Given the description of an element on the screen output the (x, y) to click on. 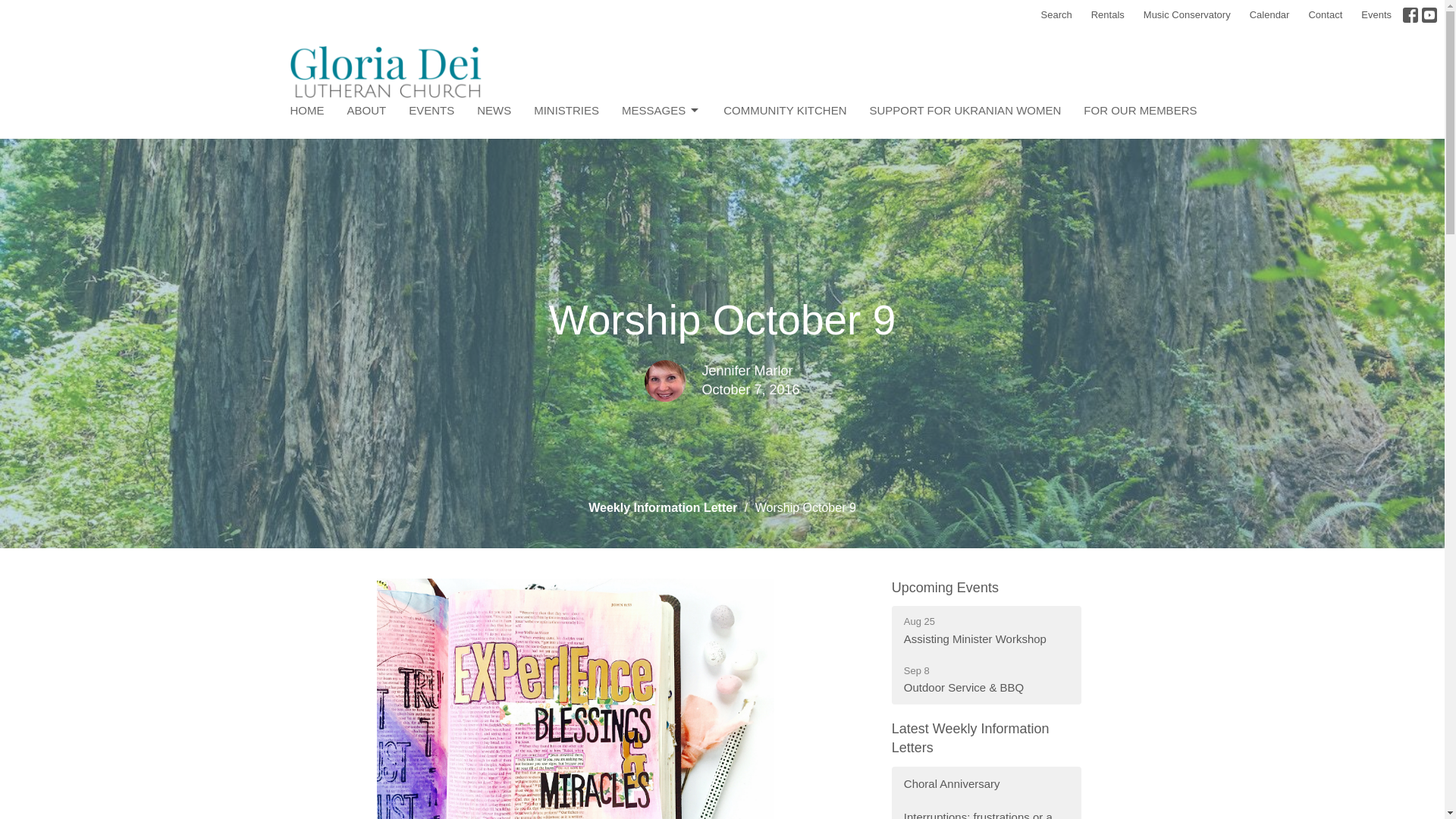
MINISTRIES (566, 109)
Interruptions: frustrations or a chance to re-focus? (986, 809)
Calendar (1269, 15)
Weekly Information Letter (662, 507)
FOR OUR MEMBERS (1139, 109)
Upcoming Events (944, 587)
ABOUT (367, 109)
Contact (1324, 15)
Latest Weekly Information Letters (970, 738)
SUPPORT FOR UKRANIAN WOMEN (965, 109)
